Given the description of an element on the screen output the (x, y) to click on. 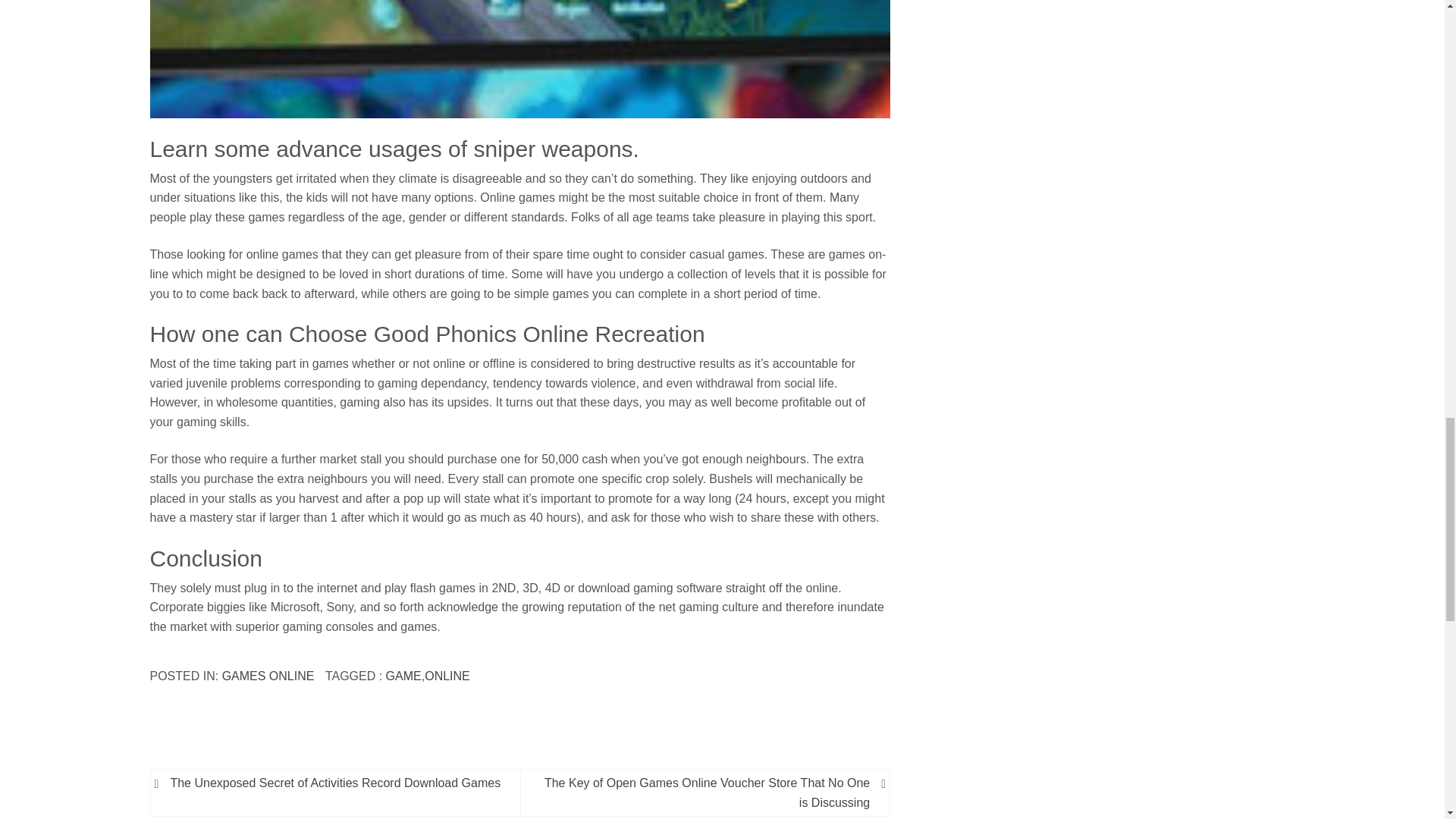
GAMES ONLINE (268, 675)
ONLINE (447, 675)
The Unexposed Secret of Activities Record Download Games (336, 783)
An Unbiased View of Open World Games Online Give Freedom (520, 58)
GAME (403, 675)
